Given the description of an element on the screen output the (x, y) to click on. 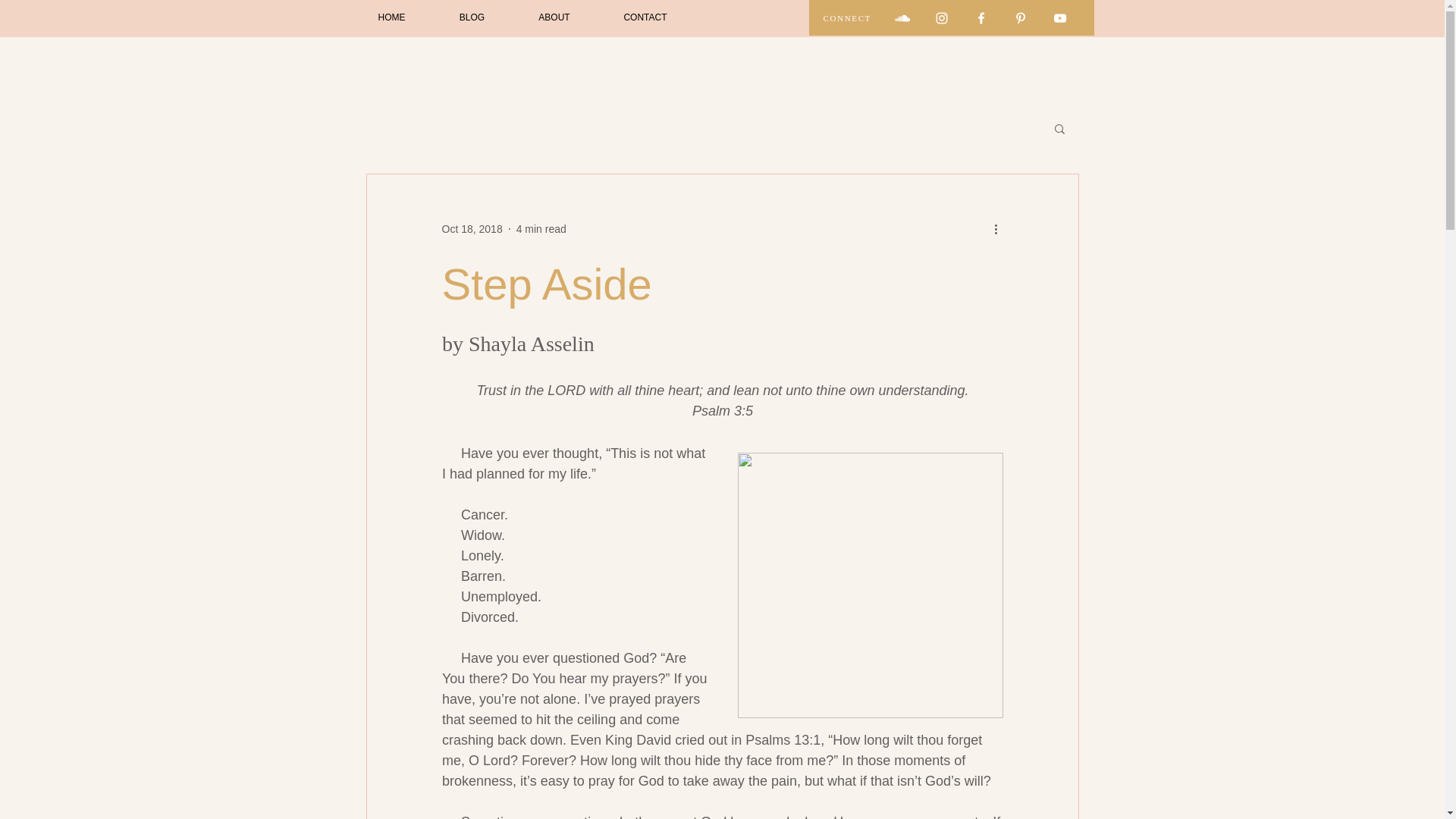
BLOG (471, 18)
HOME (391, 18)
4 min read (541, 228)
ABOUT (553, 18)
CONTACT (645, 18)
Oct 18, 2018 (471, 228)
